Given the description of an element on the screen output the (x, y) to click on. 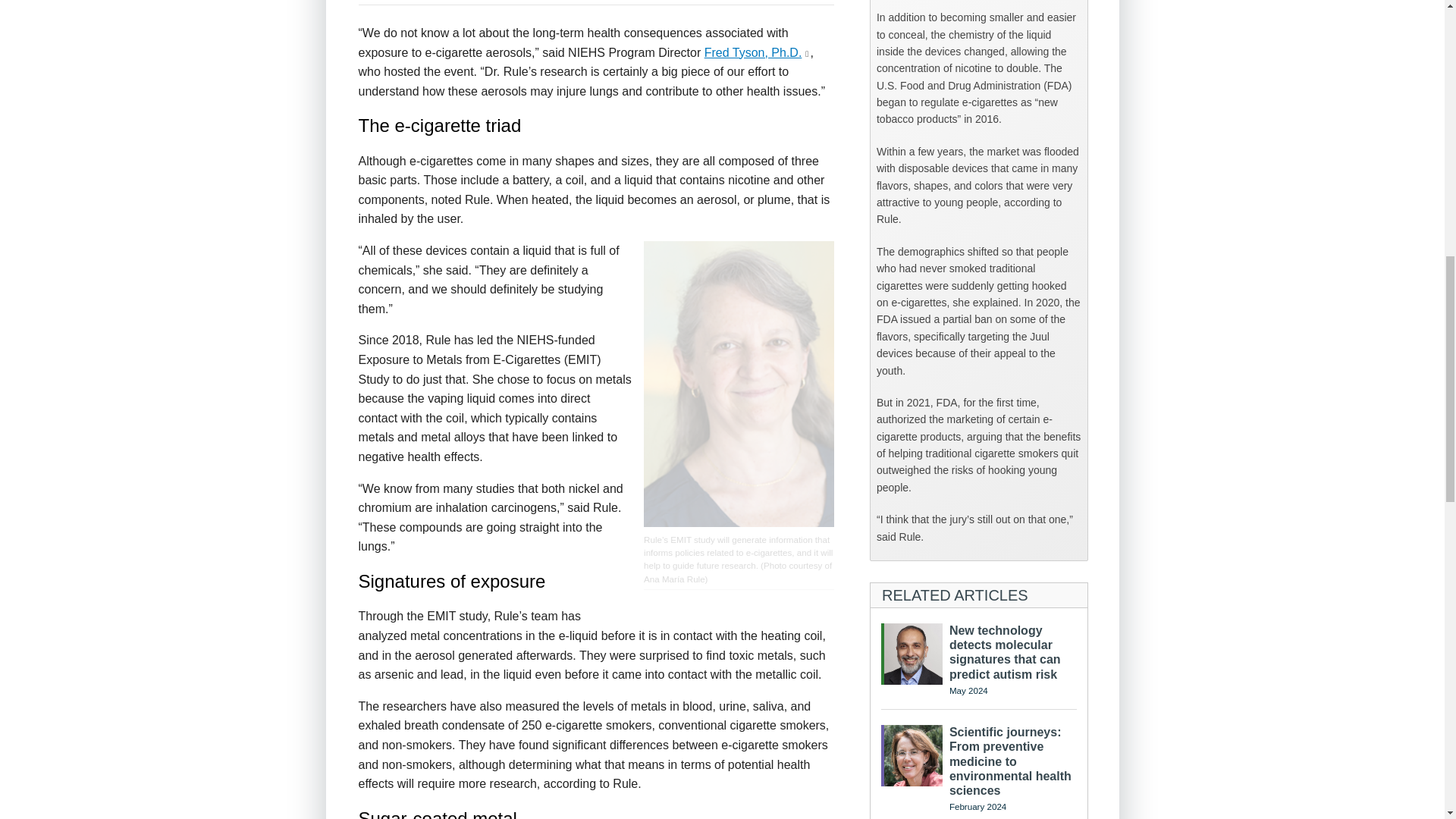
Fred Tyson, Ph.D. (753, 51)
